Given the description of an element on the screen output the (x, y) to click on. 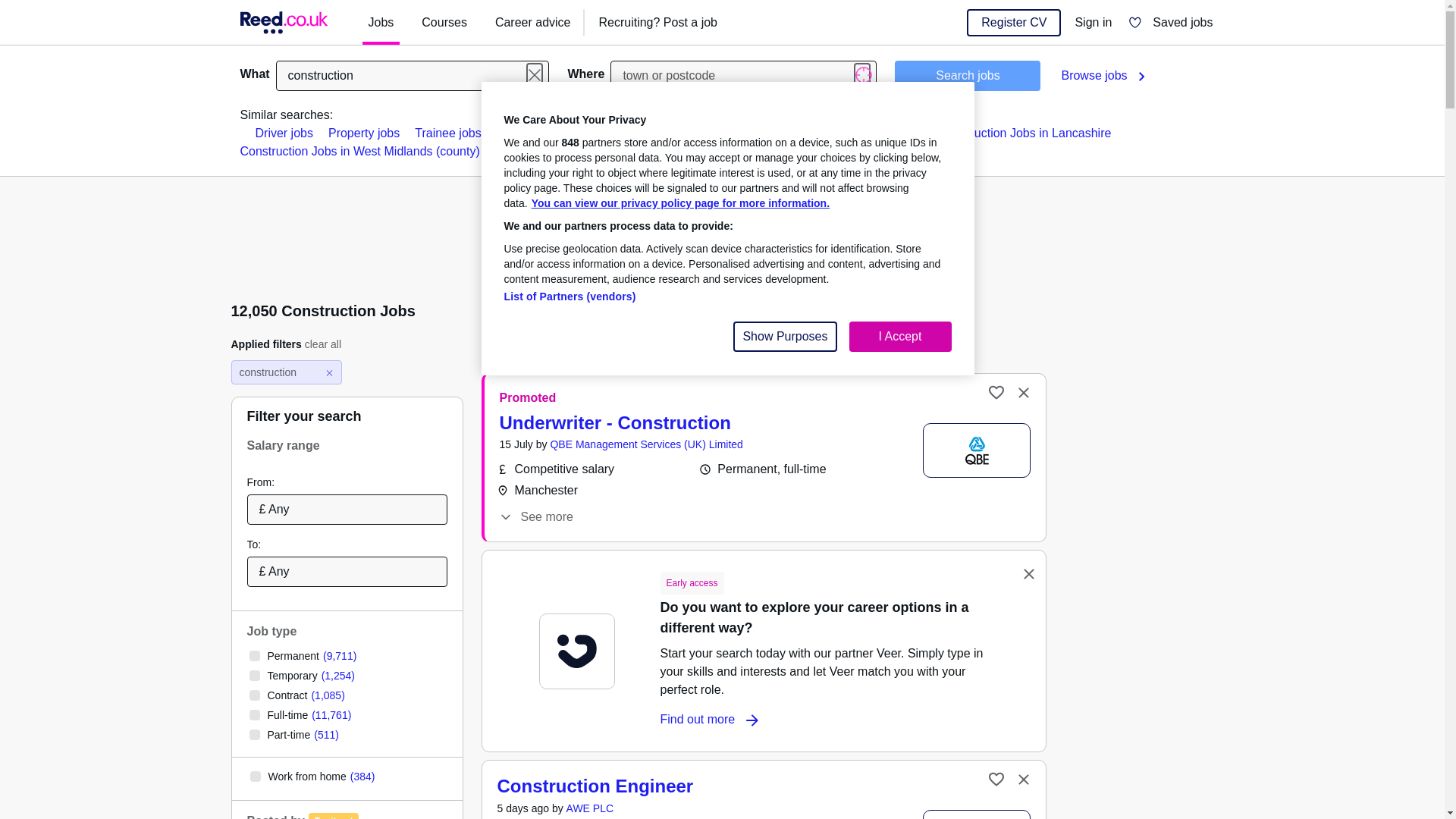
Construction Manager jobs (682, 132)
Shortlist job (996, 391)
Construction Jobs in Lancashire (1025, 132)
Trainee jobs (447, 132)
Saved jobs (1170, 22)
Trainee jobs (447, 132)
Site Manager jobs (545, 132)
on (253, 715)
Construction Jobs in Lancashire (1025, 132)
Construction Jobs in London (846, 132)
construction (413, 75)
Sign in (1093, 22)
e.g. "office manager" (413, 75)
on (255, 776)
Courses (443, 22)
